Given the description of an element on the screen output the (x, y) to click on. 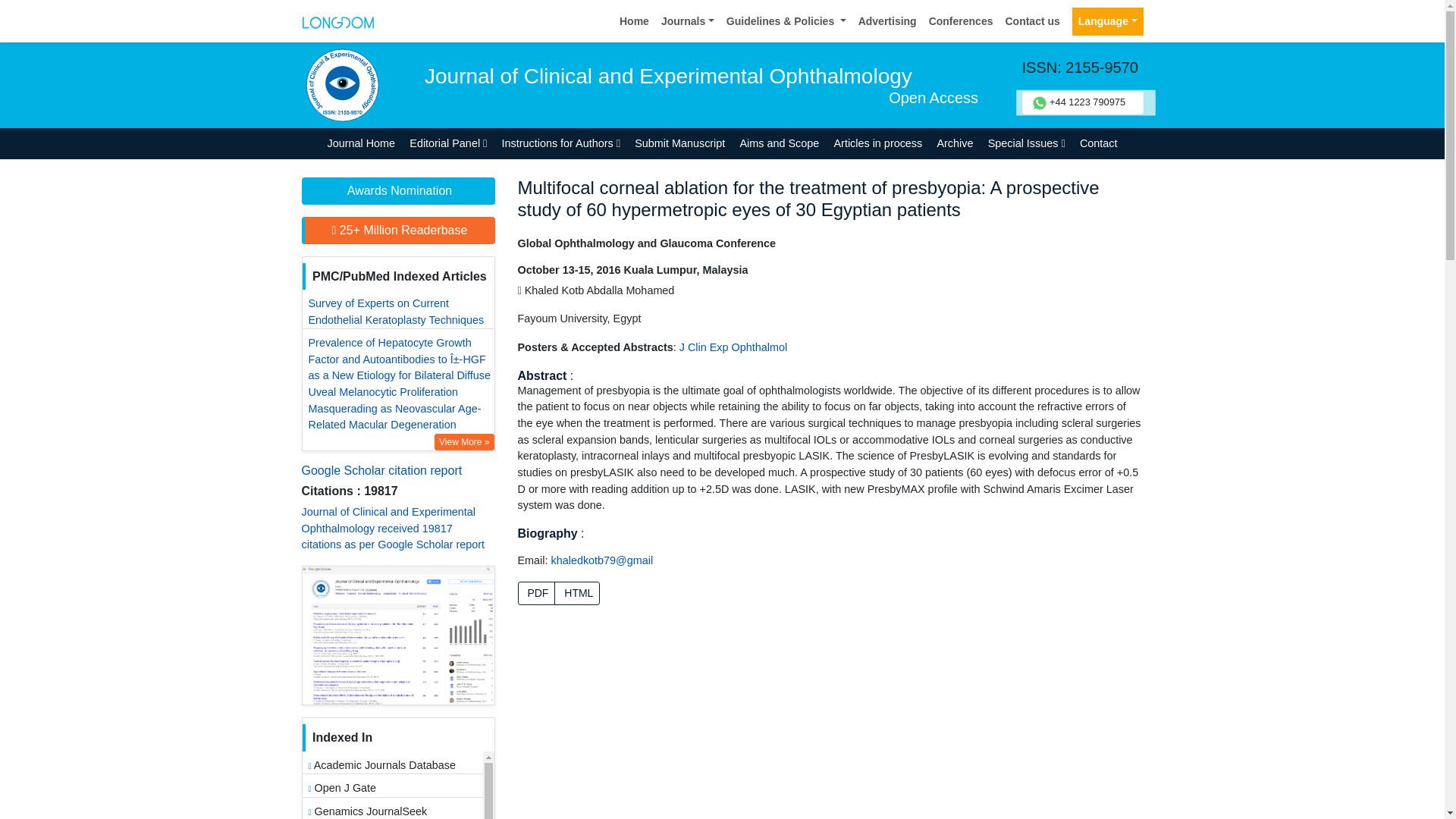
Instructions for Authors (561, 142)
Editorial Panel (449, 142)
Longdom Publishing S.L (337, 20)
Conferences (960, 21)
Journal Home (361, 142)
Contact us (1031, 21)
Aims and Scope (779, 142)
Home (633, 21)
Journals (687, 21)
Submit Manuscript (679, 142)
Contact us (1031, 21)
Conferences (960, 21)
Language (1106, 21)
Articles in process (878, 142)
Home (633, 21)
